Given the description of an element on the screen output the (x, y) to click on. 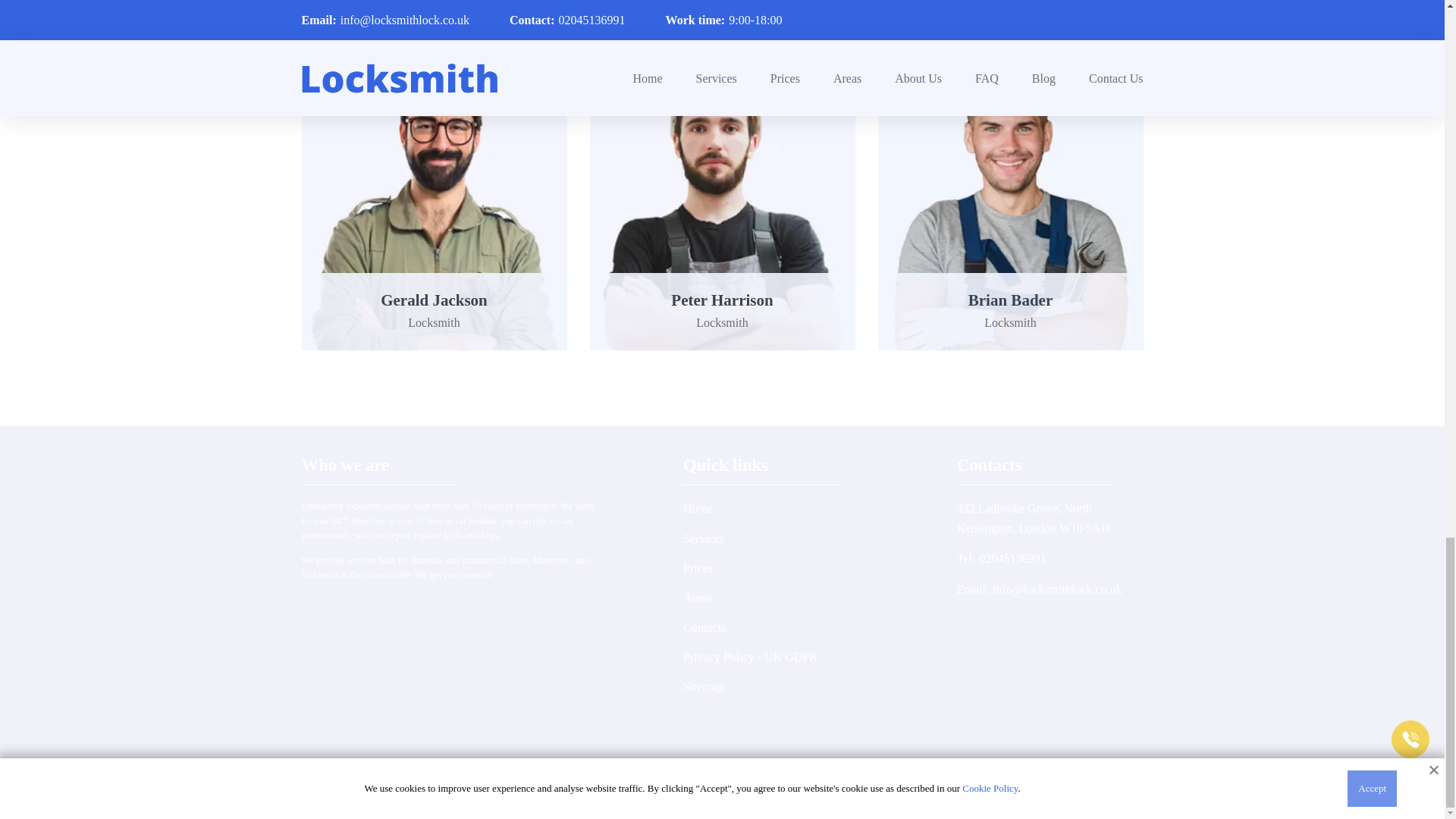
Sitemap (702, 686)
Privacy Policy - UK GDPR (749, 656)
Prices (697, 567)
02045136991 (1011, 558)
Contacts (703, 626)
Home (697, 508)
Areas (696, 597)
Services (702, 538)
